Given the description of an element on the screen output the (x, y) to click on. 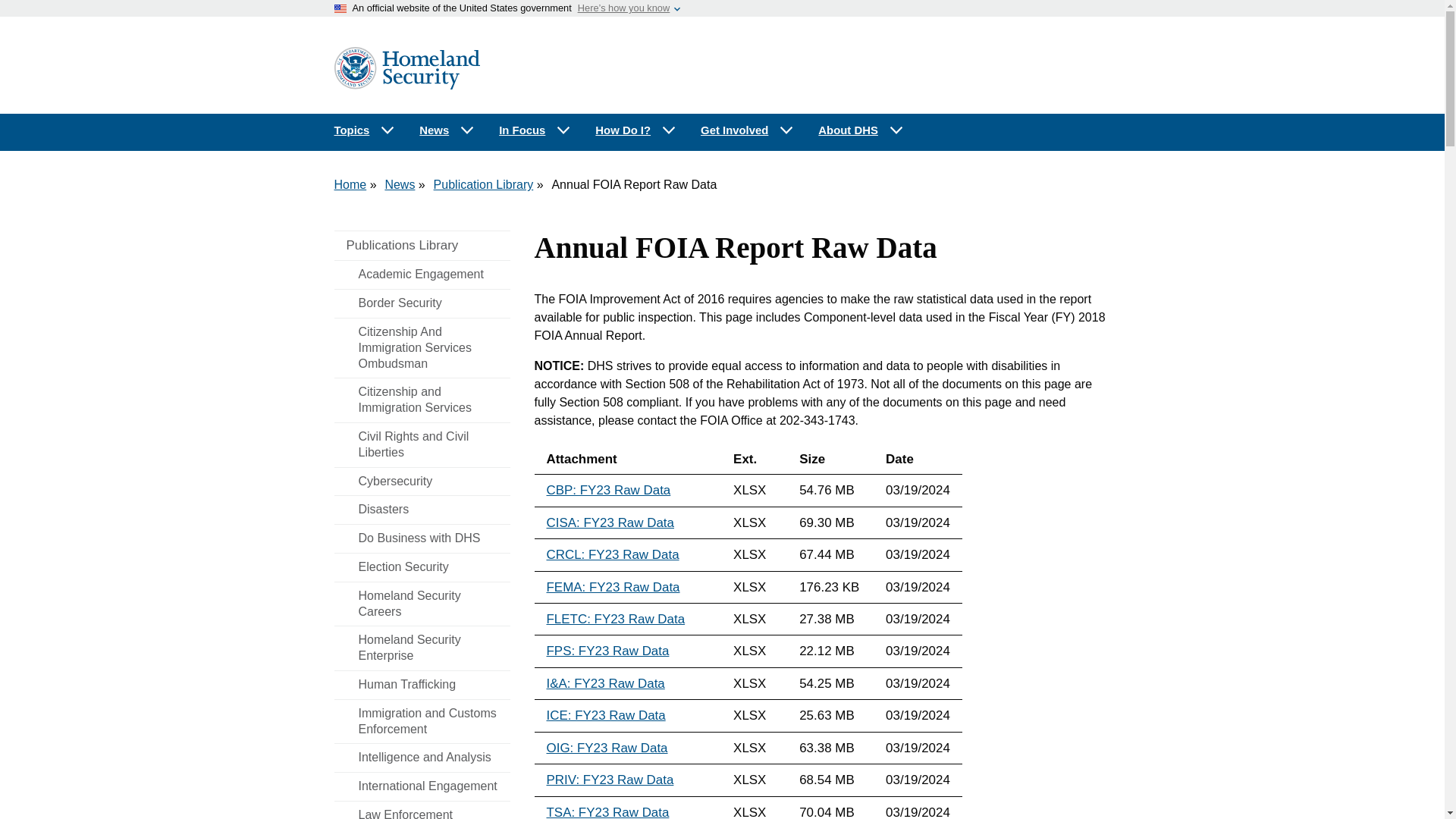
Civil Rights and Civil Liberties (421, 444)
News (446, 130)
Do Business with DHS (421, 538)
Cybersecurity (421, 481)
Home (349, 184)
Election Security (421, 567)
Get Involved (747, 130)
Law Enforcement (421, 810)
Homeland Security Careers (421, 604)
